Given the description of an element on the screen output the (x, y) to click on. 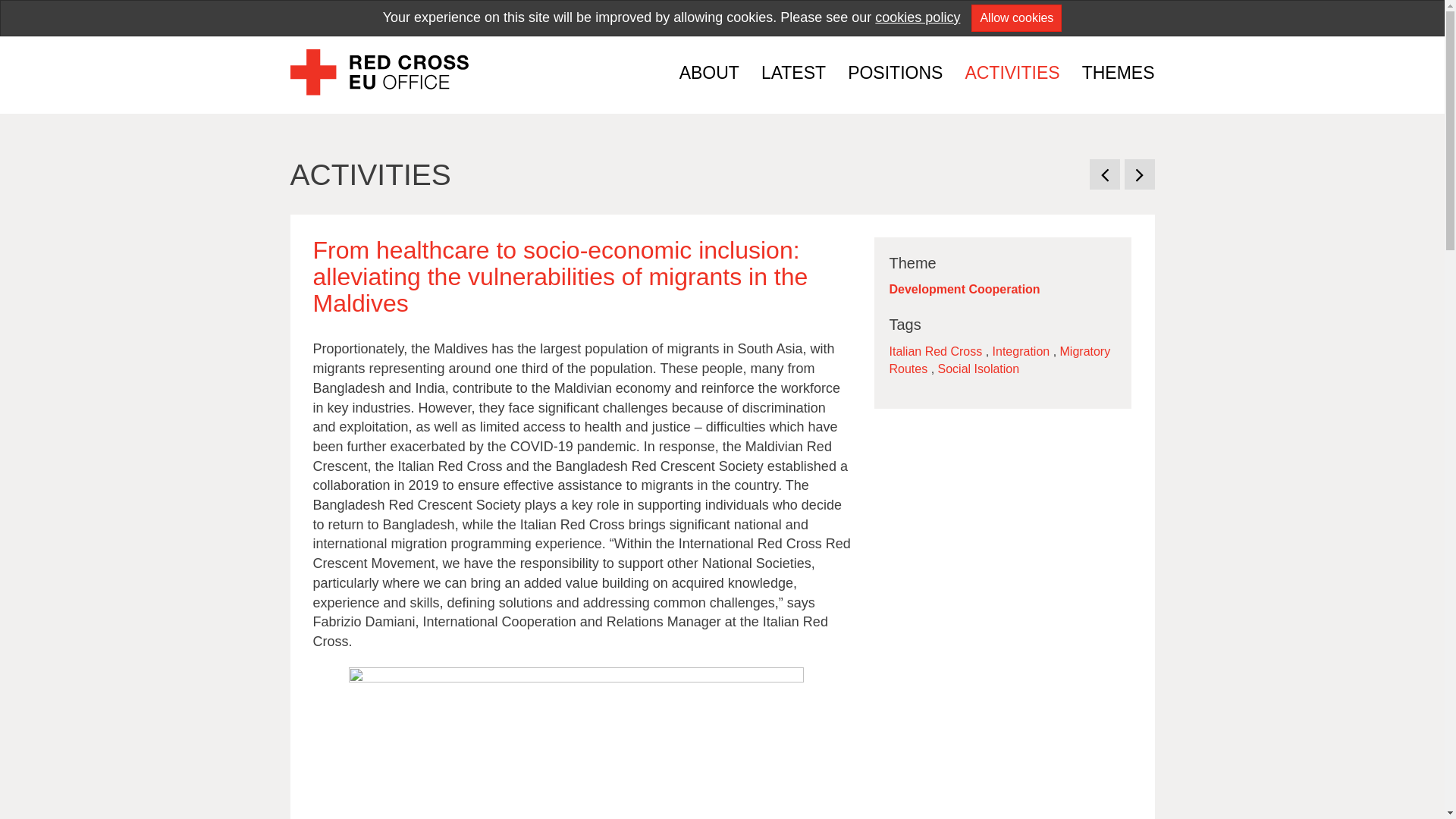
THEMES (1113, 73)
Development Cooperation (963, 288)
Integration (1020, 350)
ACTIVITIES (369, 174)
ACTIVITIES (1011, 73)
CONTACT US (948, 16)
POSITIONS (895, 73)
Migratory Routes (998, 359)
Allow cookies (1016, 17)
Search (1139, 15)
